Given the description of an element on the screen output the (x, y) to click on. 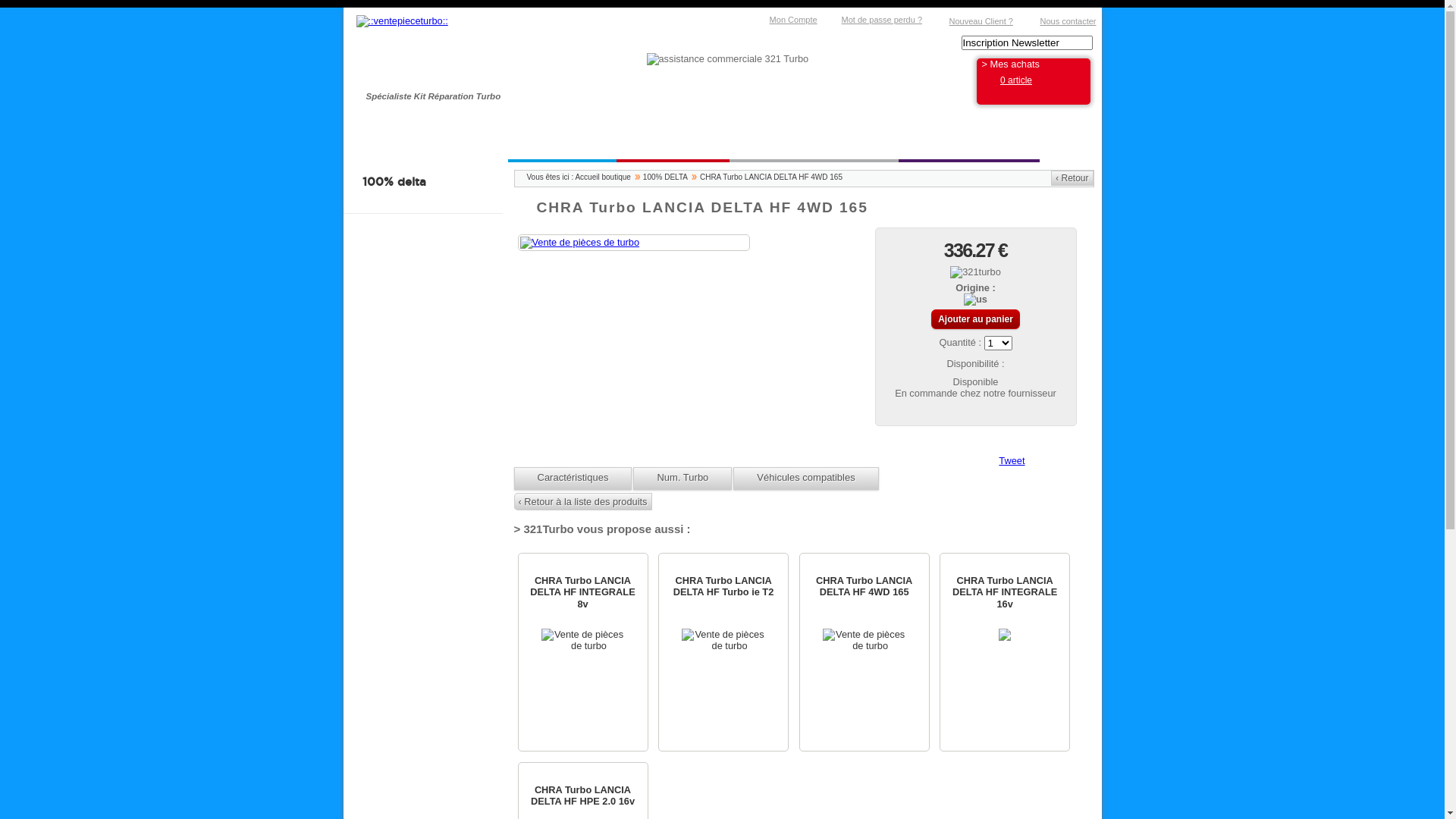
Tweet Element type: text (1011, 460)
Nous contacter Element type: text (1061, 17)
ok Element type: text (1086, 43)
Mot de passe perdu ? Element type: text (874, 15)
CHRA Turbo LANCIA DELTA HF INTEGRALE 16v Element type: text (1004, 651)
Mon Compte Element type: text (786, 15)
CHRA Turbo LANCIA DELTA HF Turbo ie T2 Element type: text (723, 651)
CIMAT DISTRIBUTOR Element type: text (967, 142)
SALON EQUIP AUTO 2015 Element type: text (813, 142)
100% DELTA Element type: text (669, 176)
321turbo Element type: hover (975, 272)
  Element type: hover (1004, 634)
Ajouter au panier Element type: text (975, 319)
CHRA Turbo LANCIA DELTA HF INTEGRALE 8v Element type: text (582, 651)
Accueil boutique Element type: text (606, 176)
100% DELTA Element type: text (452, 142)
0 article Element type: text (1016, 80)
us Element type: hover (975, 299)
CHRA Turbo LANCIA DELTA HF 4WD 165 Element type: hover (580, 241)
Num. Turbo Element type: text (682, 478)
Rechercher Element type: hover (1086, 43)
Nouveau Client ? Element type: text (974, 17)
CHRA Turbo LANCIA DELTA HF 4WD 165 Element type: text (864, 651)
